Given the description of an element on the screen output the (x, y) to click on. 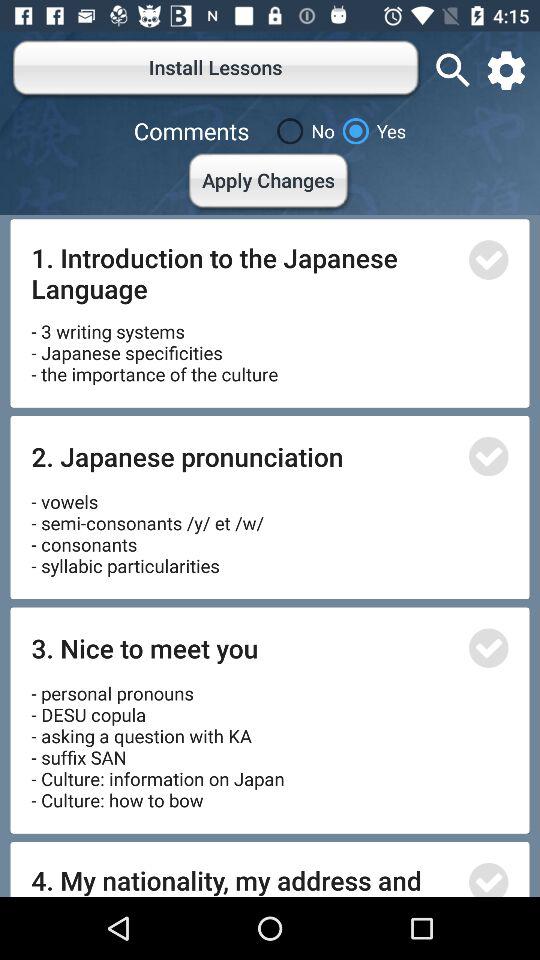
go do seting (506, 70)
